Given the description of an element on the screen output the (x, y) to click on. 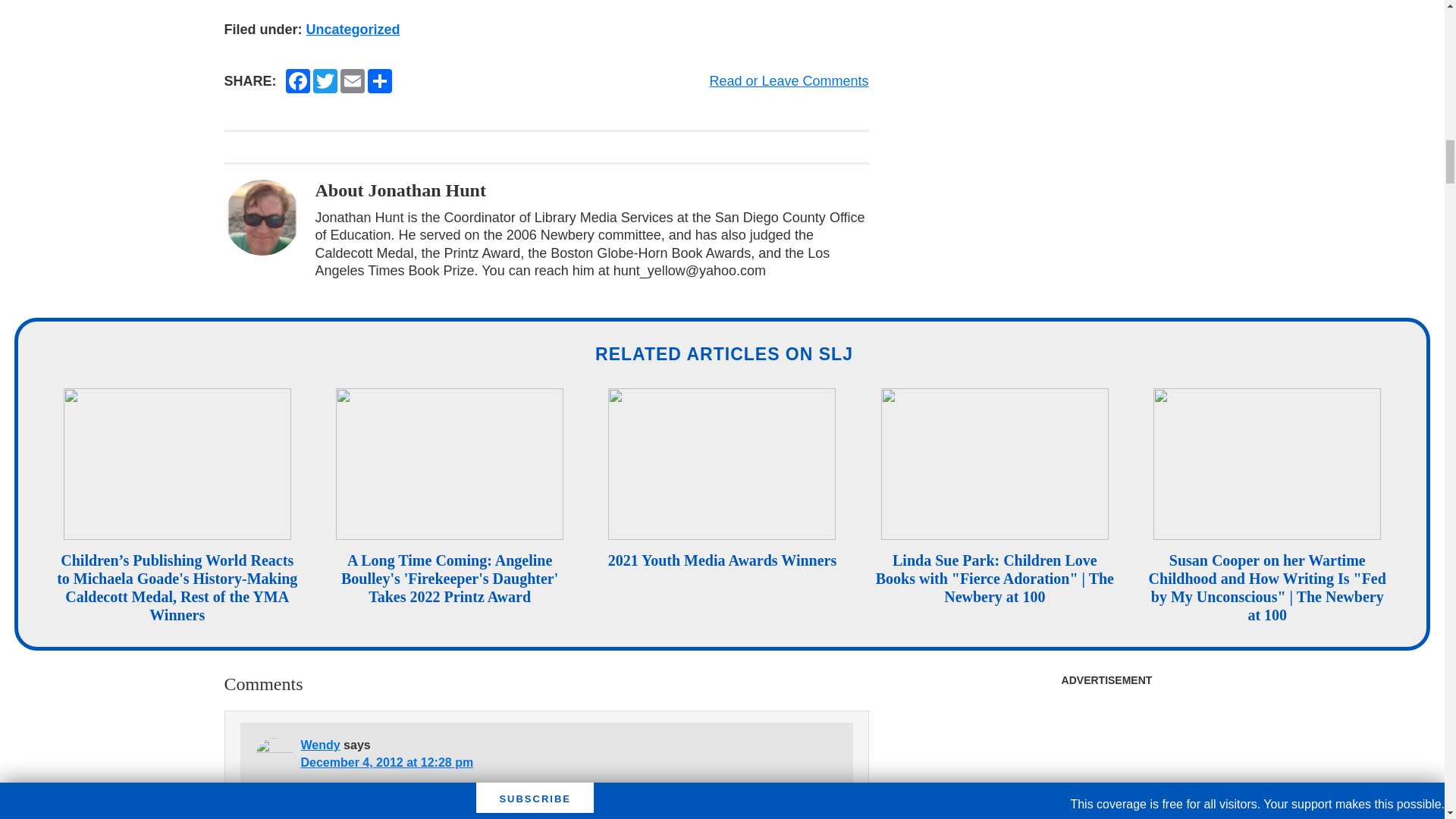
Uncategorized (352, 29)
3rd party ad content (1106, 756)
Read or Leave Comments (788, 80)
Twitter (325, 80)
Share (379, 80)
Email (352, 80)
Facebook (297, 80)
